Given the description of an element on the screen output the (x, y) to click on. 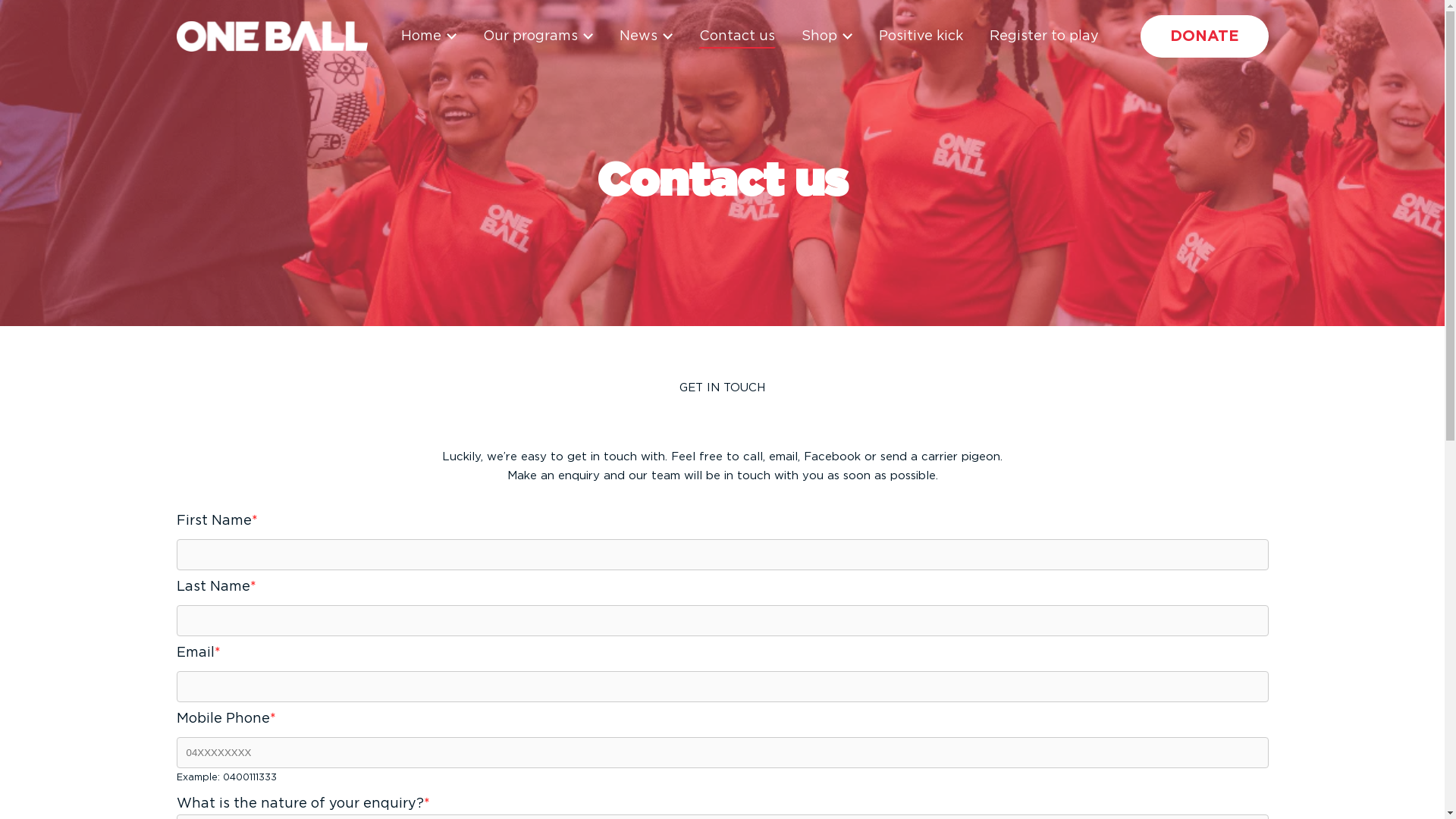
Contact us Element type: text (737, 36)
Please enter a valid email address Element type: hover (721, 686)
04XXXXXXXX Element type: hover (721, 752)
Register to play Element type: text (1043, 36)
Positive kick Element type: text (920, 36)
DONATE Element type: text (1204, 36)
